Given the description of an element on the screen output the (x, y) to click on. 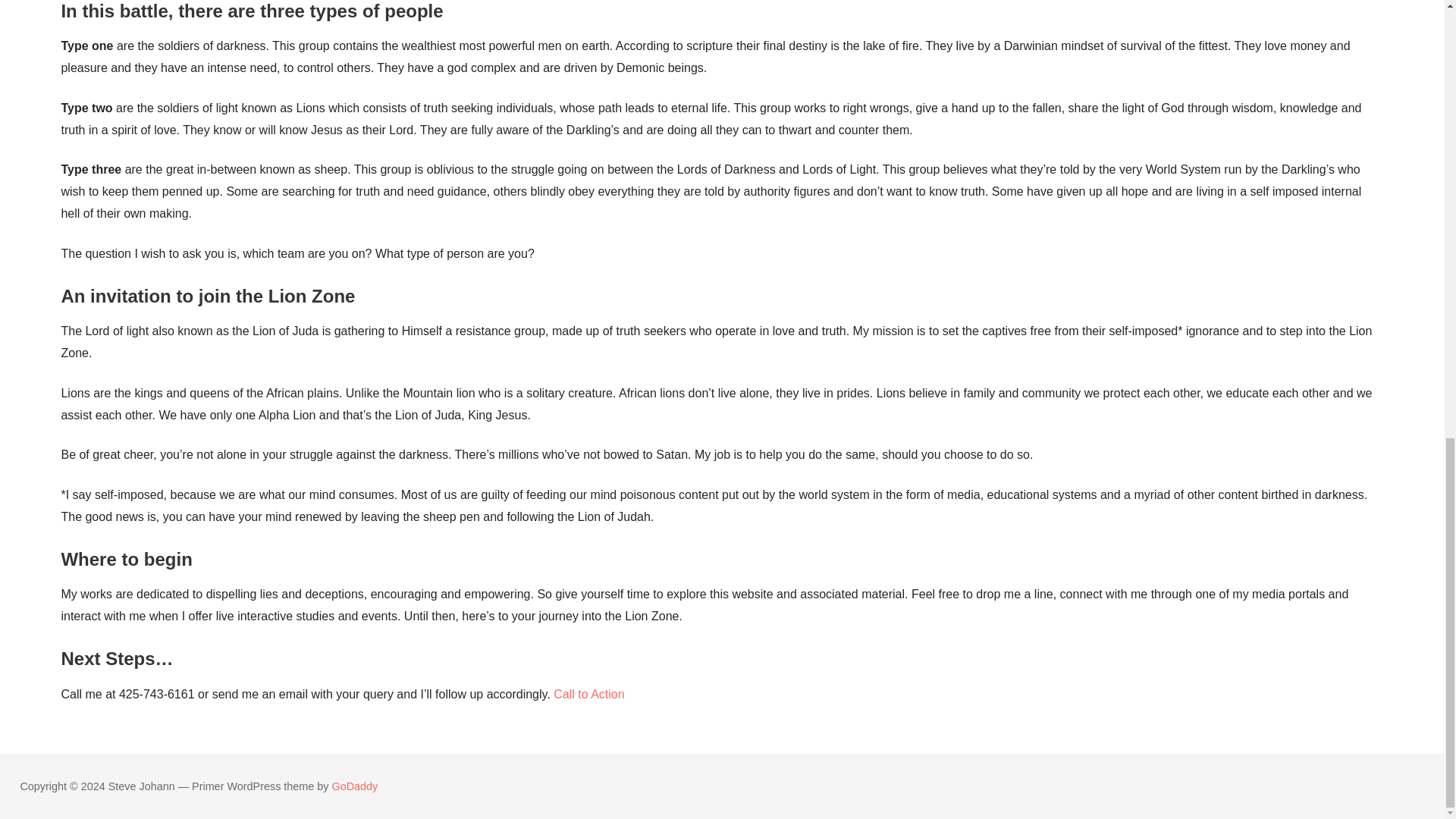
GoDaddy (354, 786)
Call to Action (587, 693)
